Given the description of an element on the screen output the (x, y) to click on. 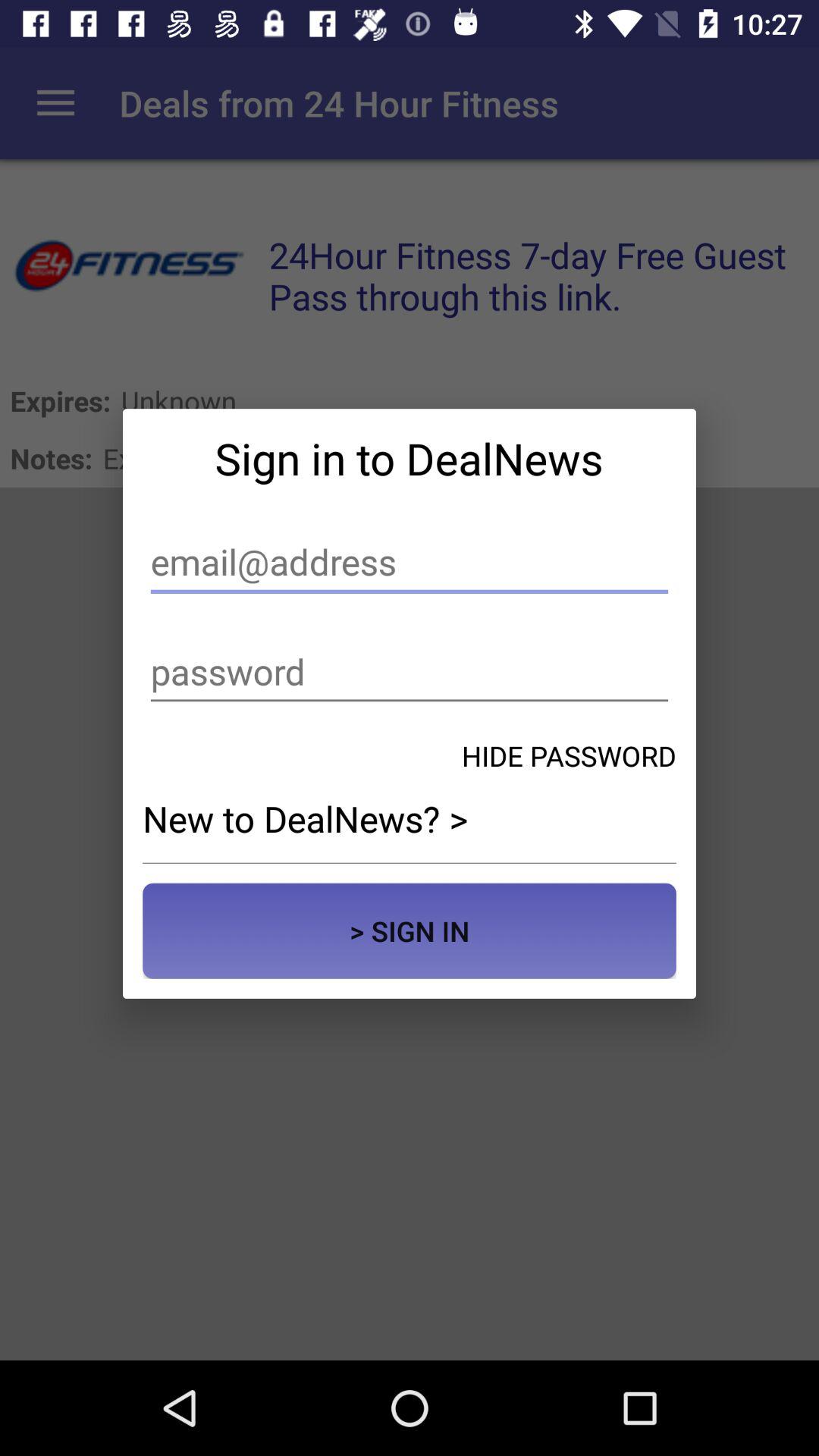
tap the hide password icon (568, 755)
